Given the description of an element on the screen output the (x, y) to click on. 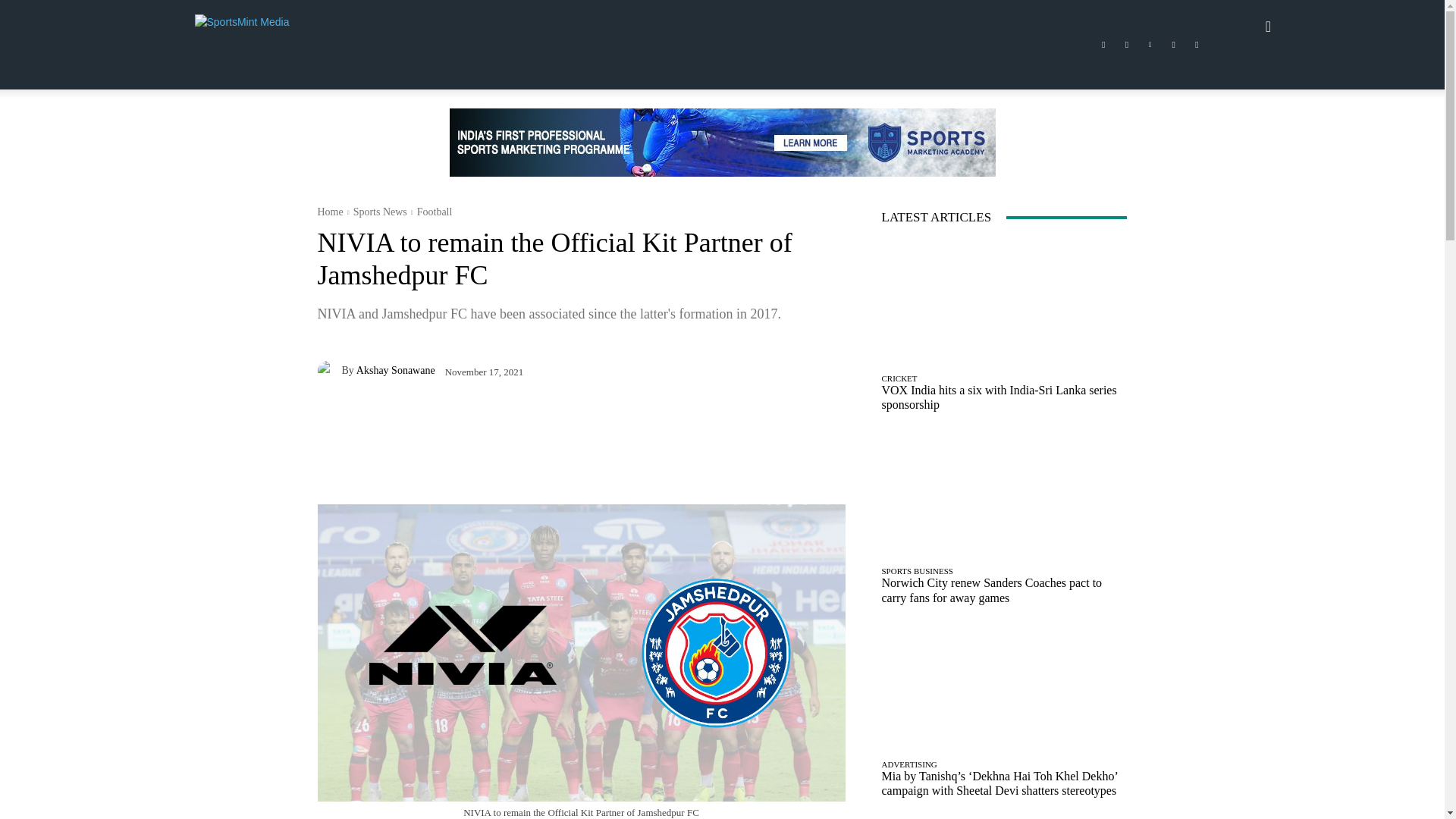
SportsMint Media (302, 25)
Instagram (1126, 45)
Twitter (1173, 45)
Facebook (1103, 45)
SportsMint Media (257, 25)
Linkedin (1149, 45)
